Given the description of an element on the screen output the (x, y) to click on. 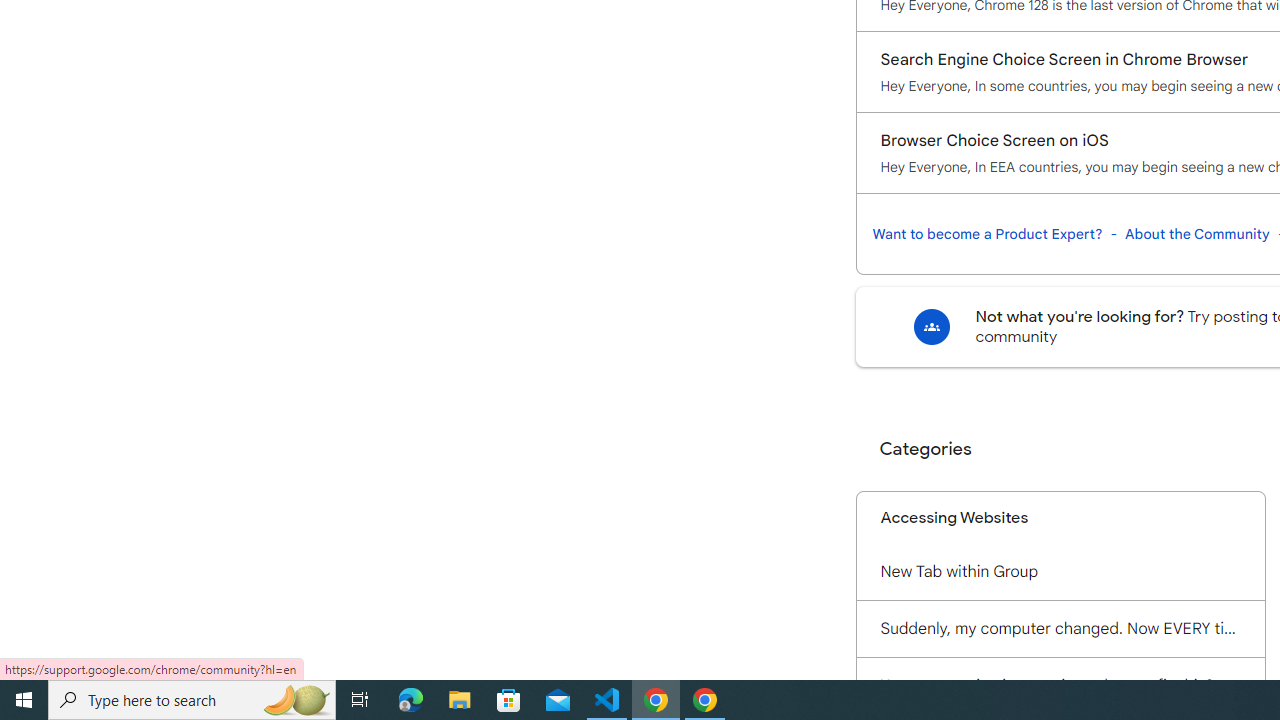
About the Community (1197, 233)
Want to become a Product Expert? (987, 233)
